Given the description of an element on the screen output the (x, y) to click on. 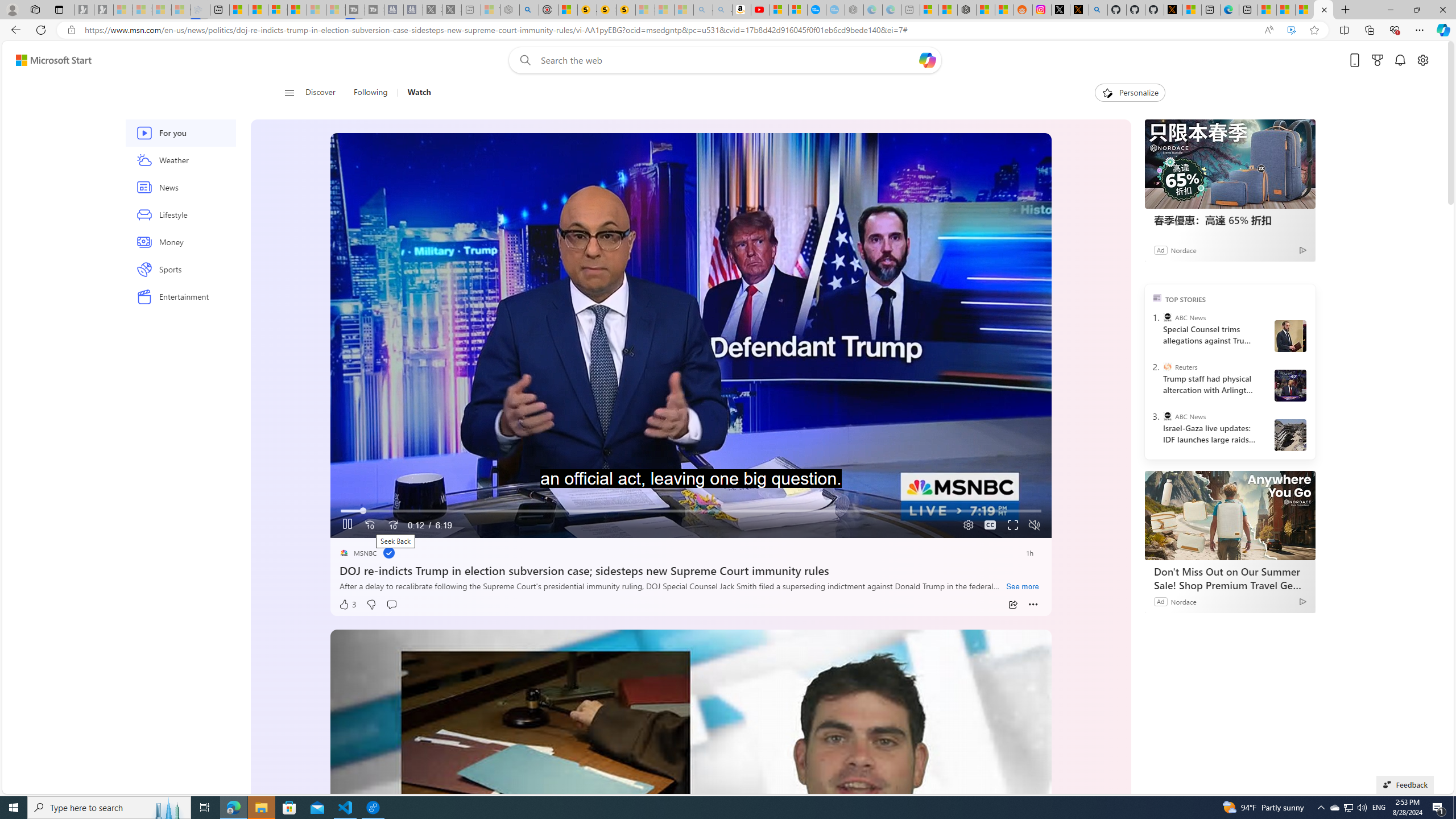
Share (1012, 604)
Day 1: Arriving in Yemen (surreal to be here) - YouTube (759, 9)
Opinion: Op-Ed and Commentary - USA TODAY (816, 9)
Nordace - Duffels (966, 9)
Share (1012, 604)
Microsoft Start - Sleeping (315, 9)
